Given the description of an element on the screen output the (x, y) to click on. 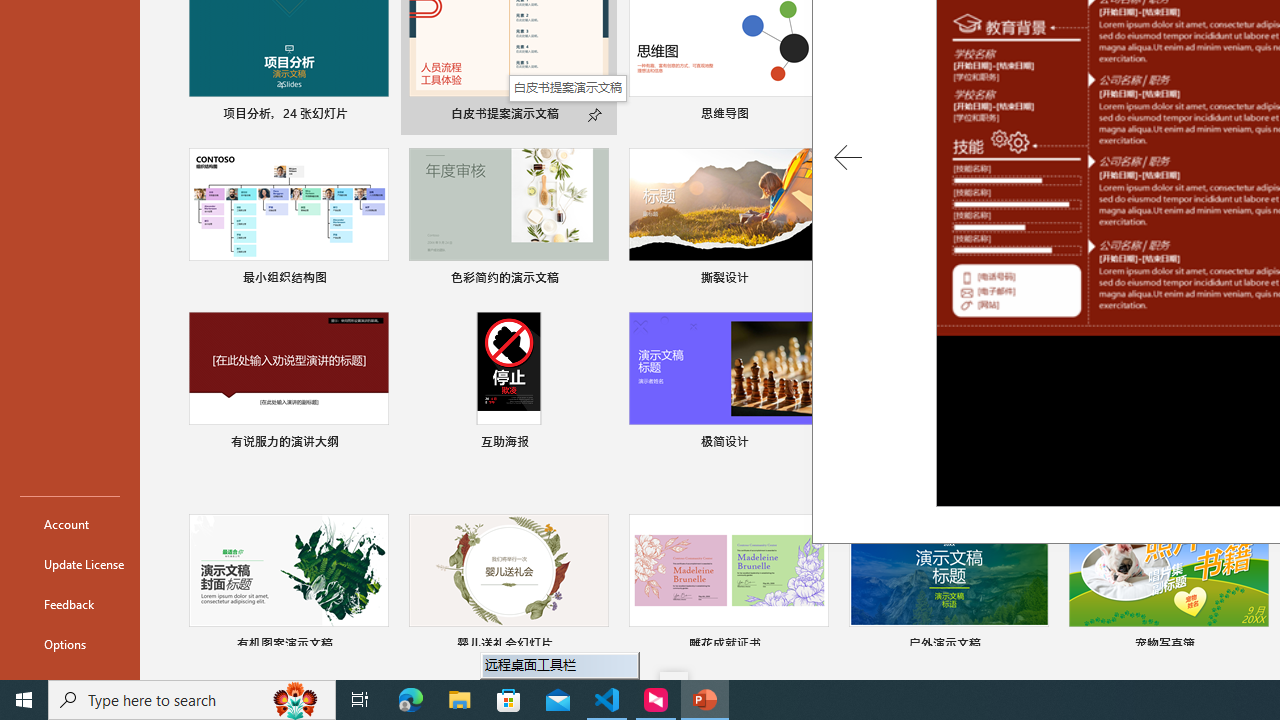
Account (69, 523)
Pin to list (1255, 645)
Feedback (69, 603)
Previous Template (847, 157)
Options (69, 643)
